Given the description of an element on the screen output the (x, y) to click on. 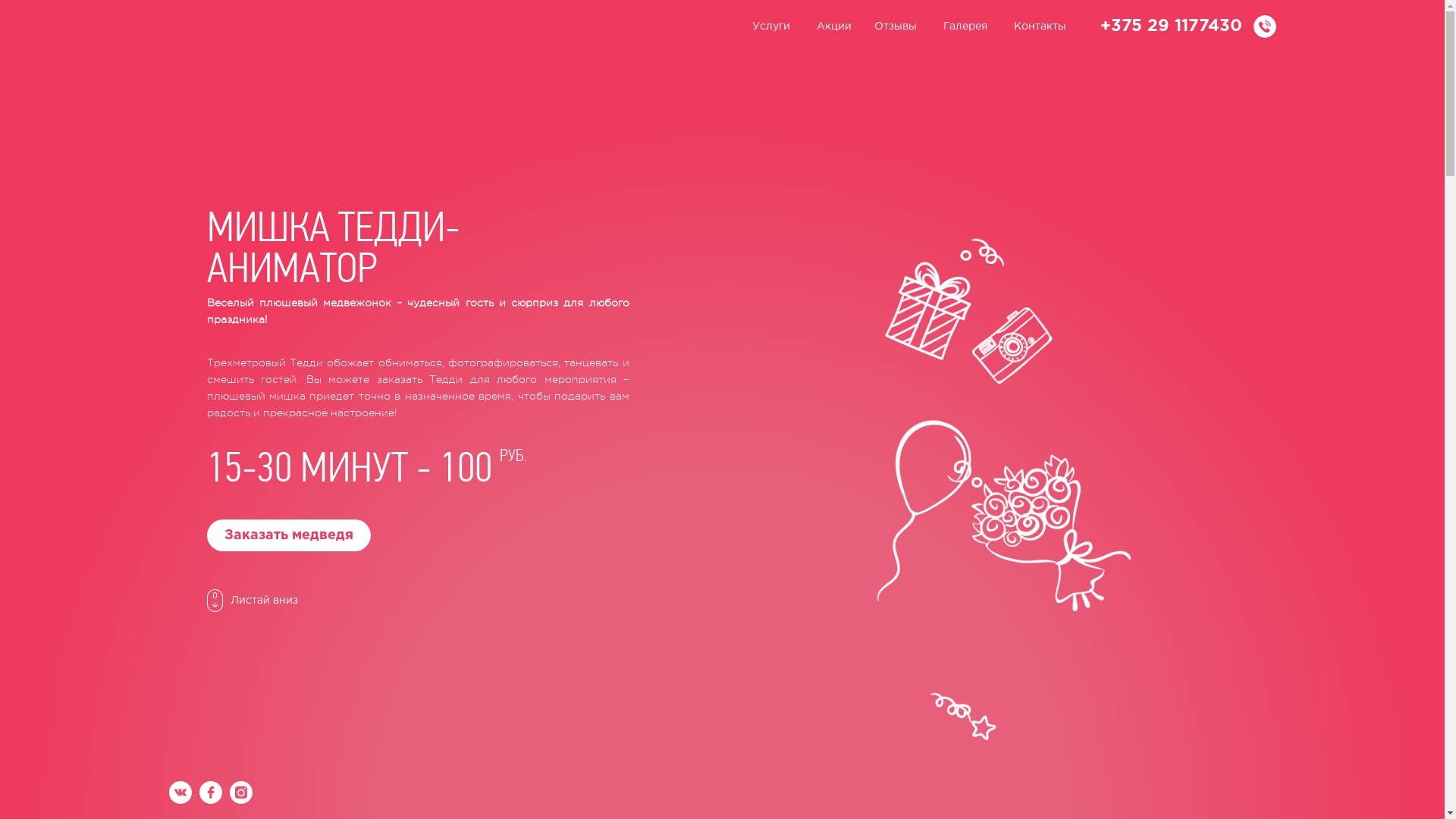
+375 29 1177430 Element type: text (1170, 26)
